Given the description of an element on the screen output the (x, y) to click on. 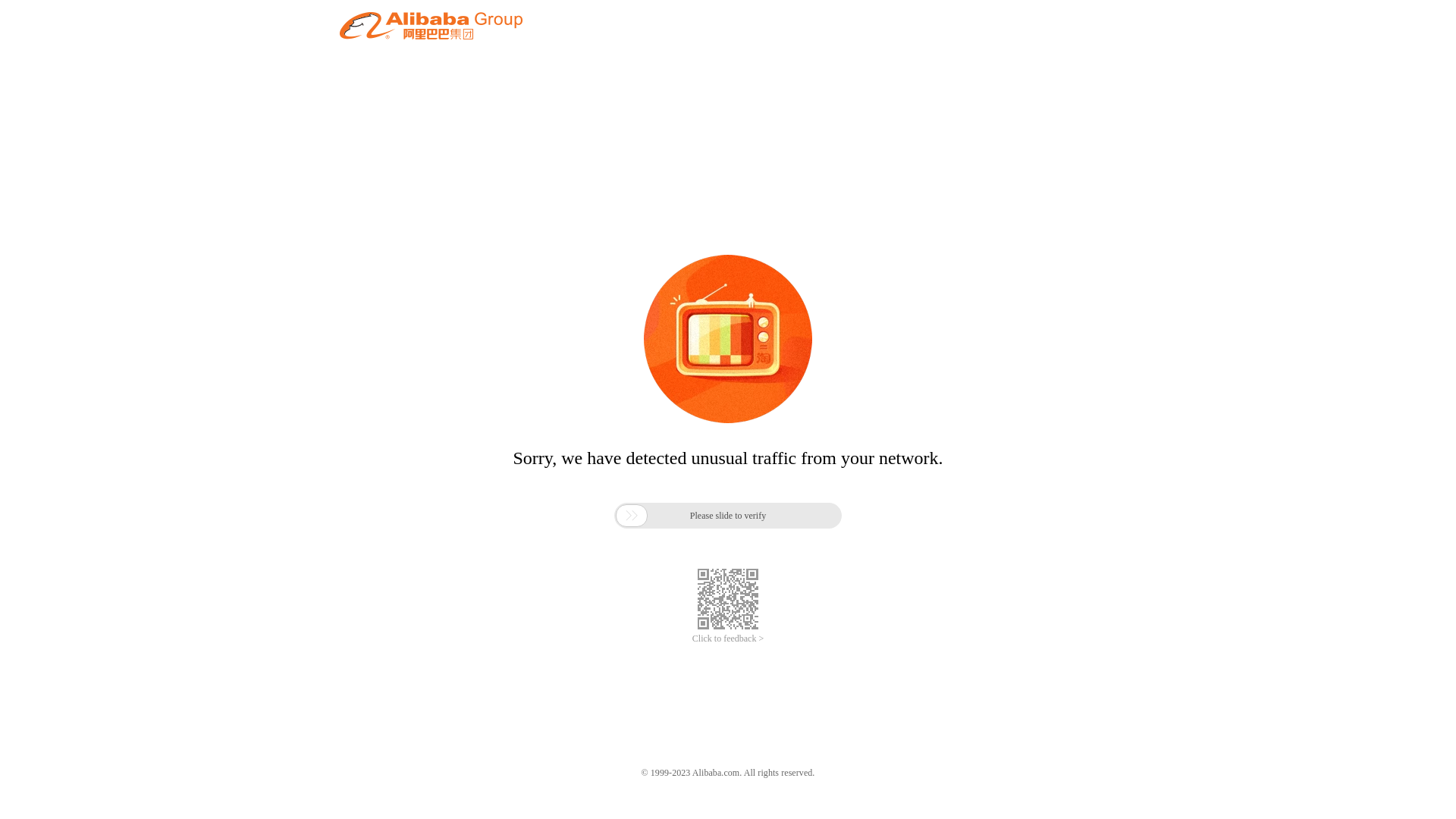
Click to feedback > Element type: text (727, 638)
